Given the description of an element on the screen output the (x, y) to click on. 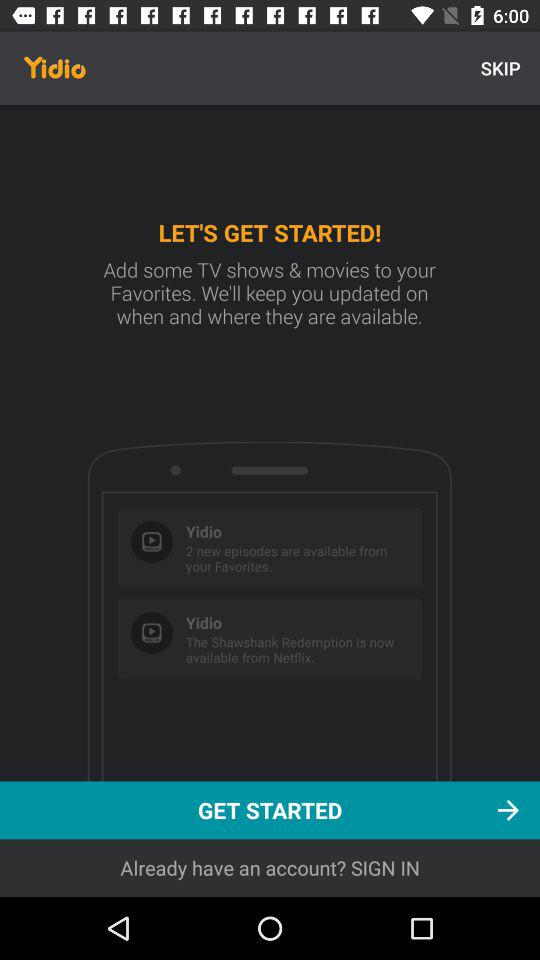
press icon above the get started icon (500, 67)
